Given the description of an element on the screen output the (x, y) to click on. 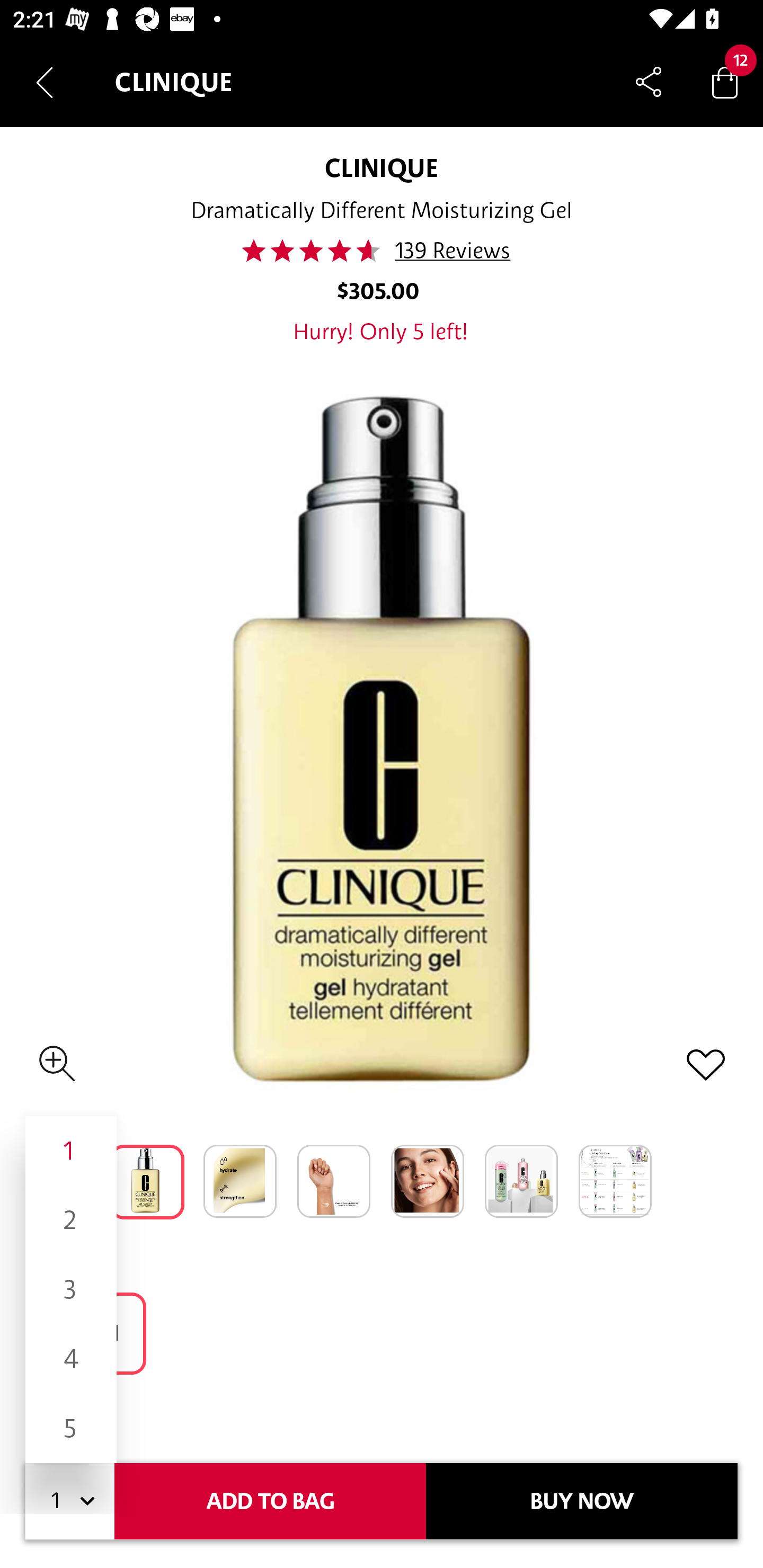
1 (70, 1150)
2 (70, 1219)
3 (70, 1289)
4 (70, 1358)
5 (70, 1427)
